Given the description of an element on the screen output the (x, y) to click on. 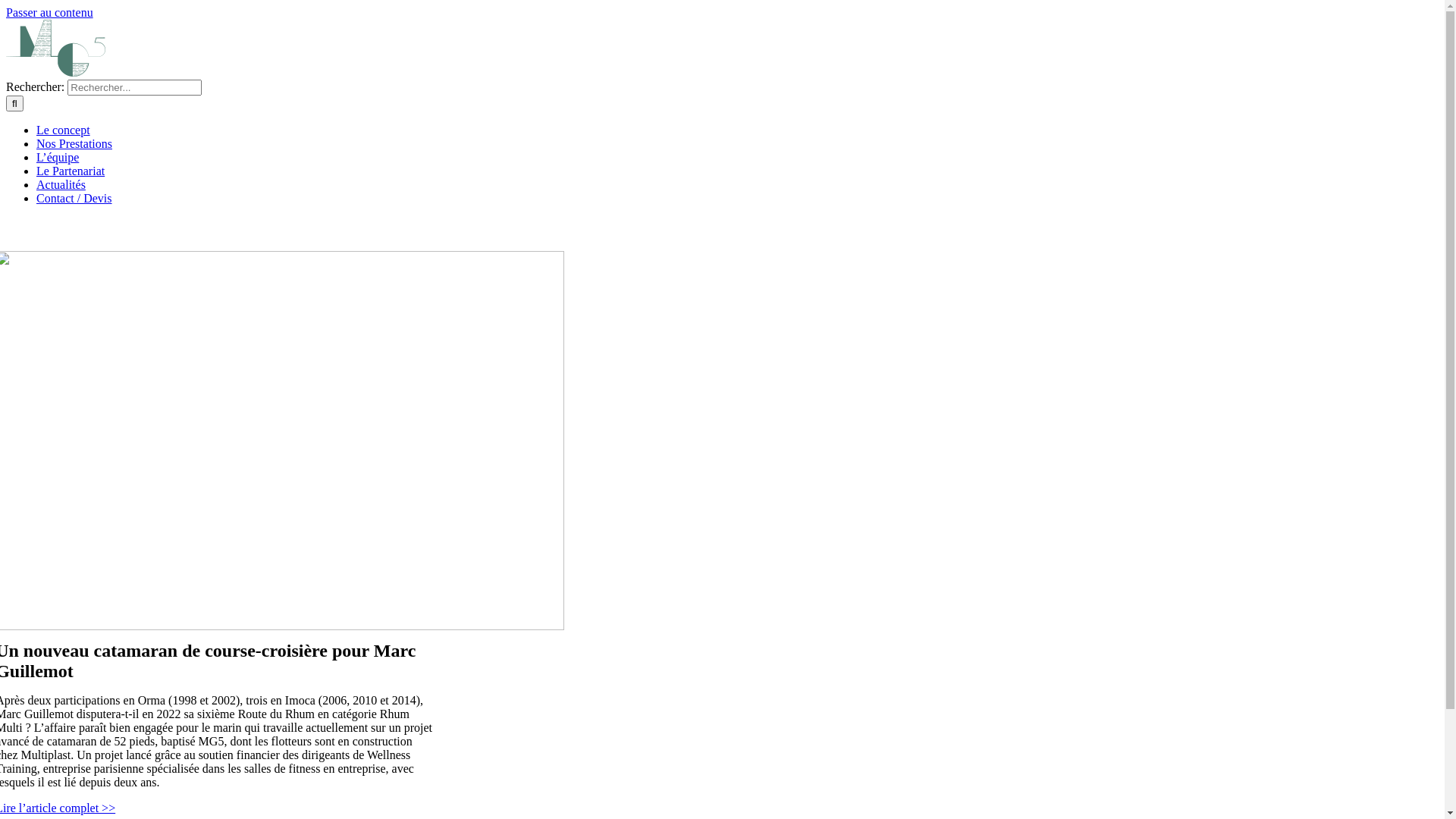
Contact / Devis Element type: text (74, 197)
Le concept Element type: text (63, 129)
Passer au contenu Element type: text (49, 12)
Le Partenariat Element type: text (70, 170)
Nos Prestations Element type: text (74, 143)
